Given the description of an element on the screen output the (x, y) to click on. 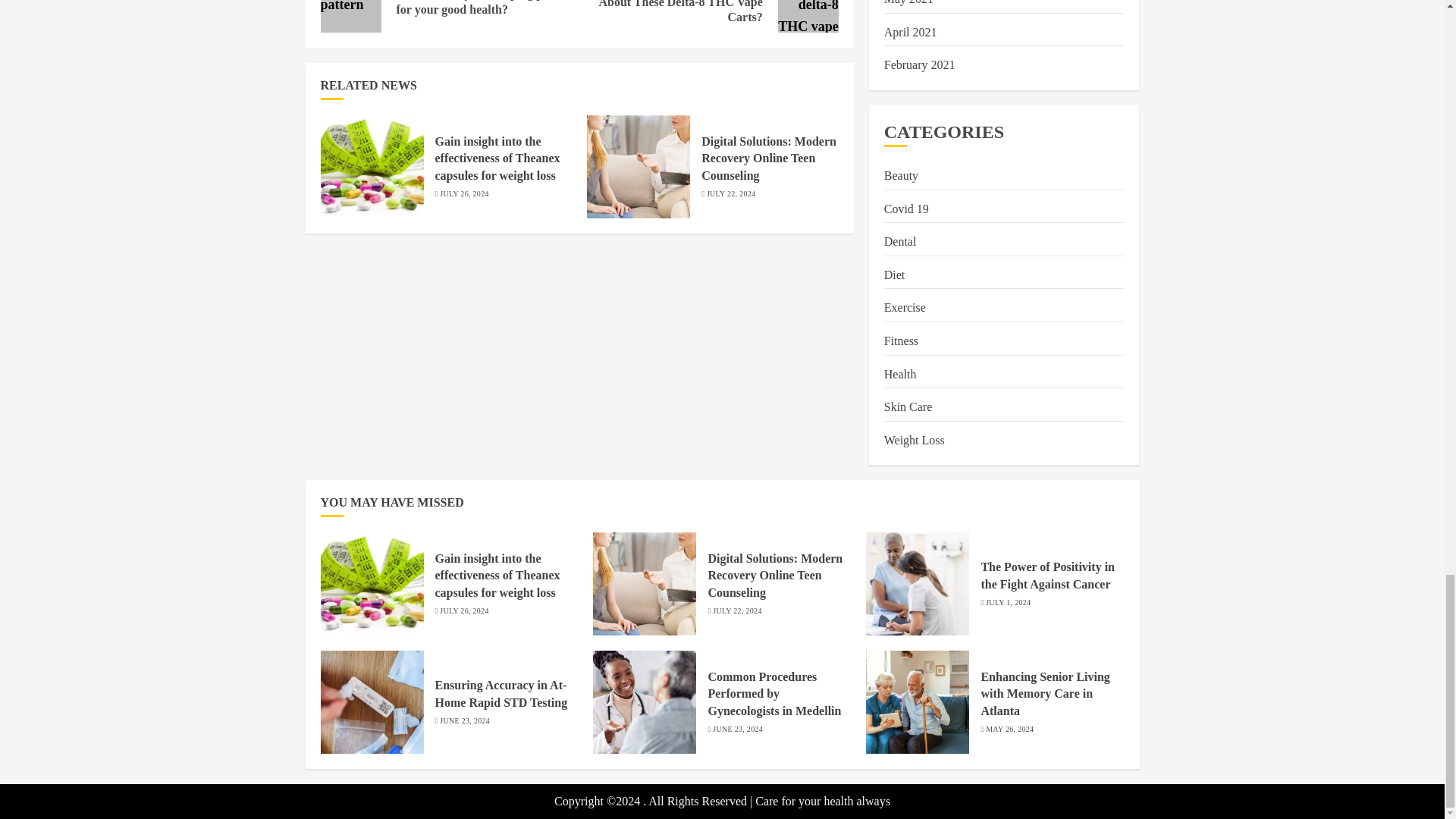
JULY 26, 2024 (463, 194)
JULY 22, 2024 (730, 194)
Digital Solutions: Modern Recovery Online Teen Counseling (768, 158)
